Given the description of an element on the screen output the (x, y) to click on. 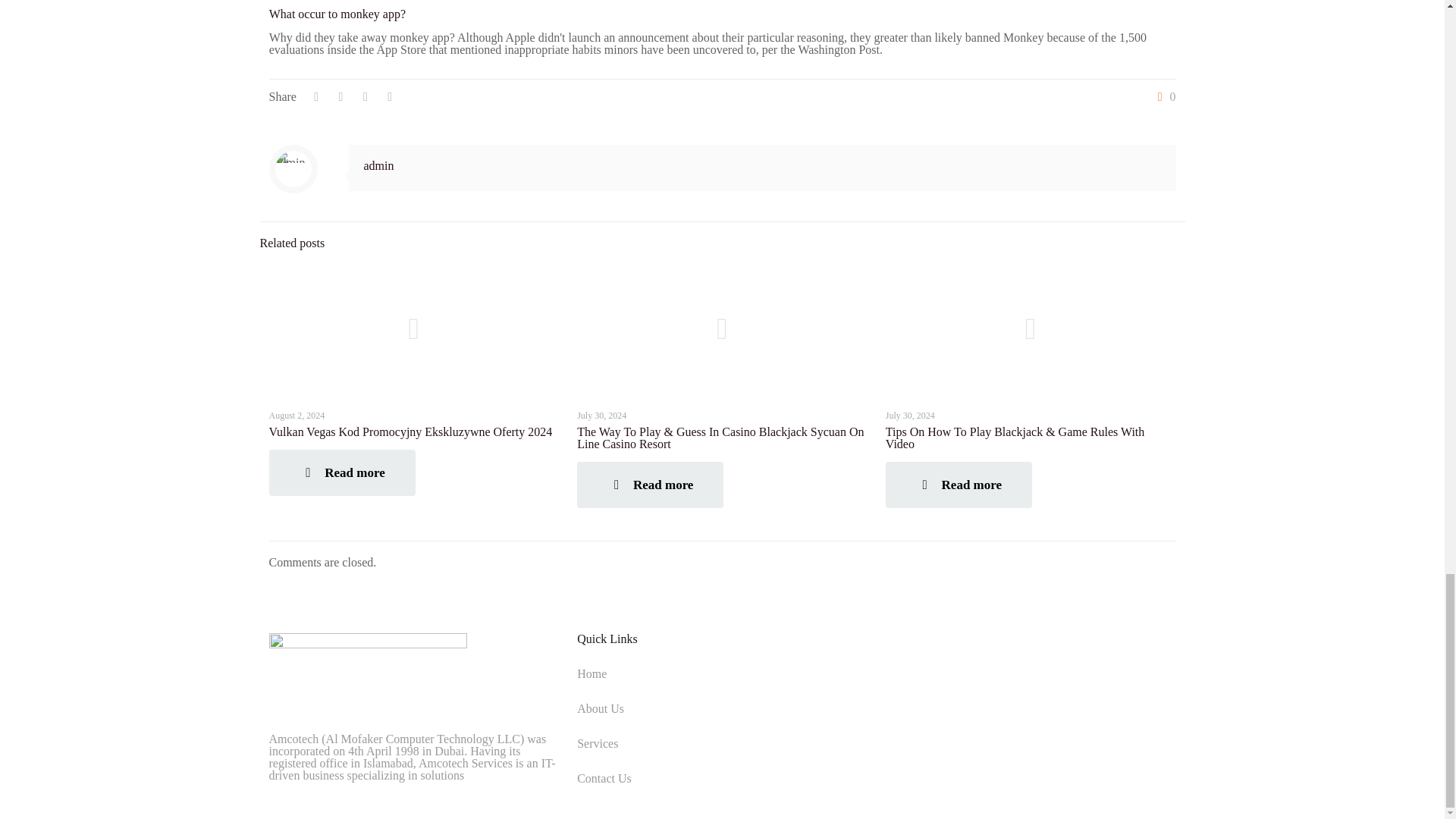
Read more (649, 484)
Vulkan Vegas Kod Promocyjny Ekskluzywne Oferty 2024 (409, 431)
0 (1162, 96)
Read more (958, 484)
admin (379, 164)
Read more (340, 472)
